Given the description of an element on the screen output the (x, y) to click on. 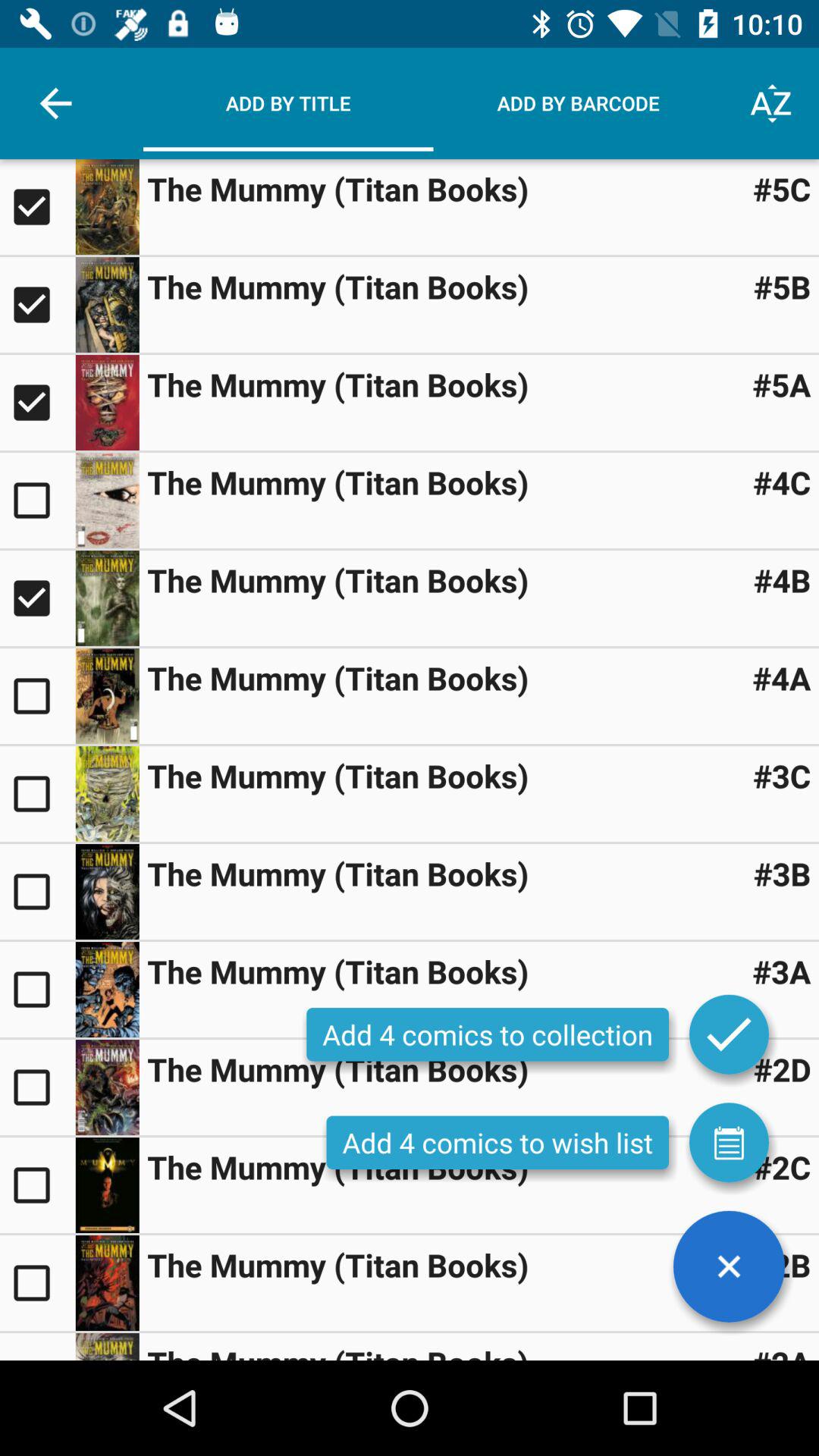
select a comic (37, 1087)
